Given the description of an element on the screen output the (x, y) to click on. 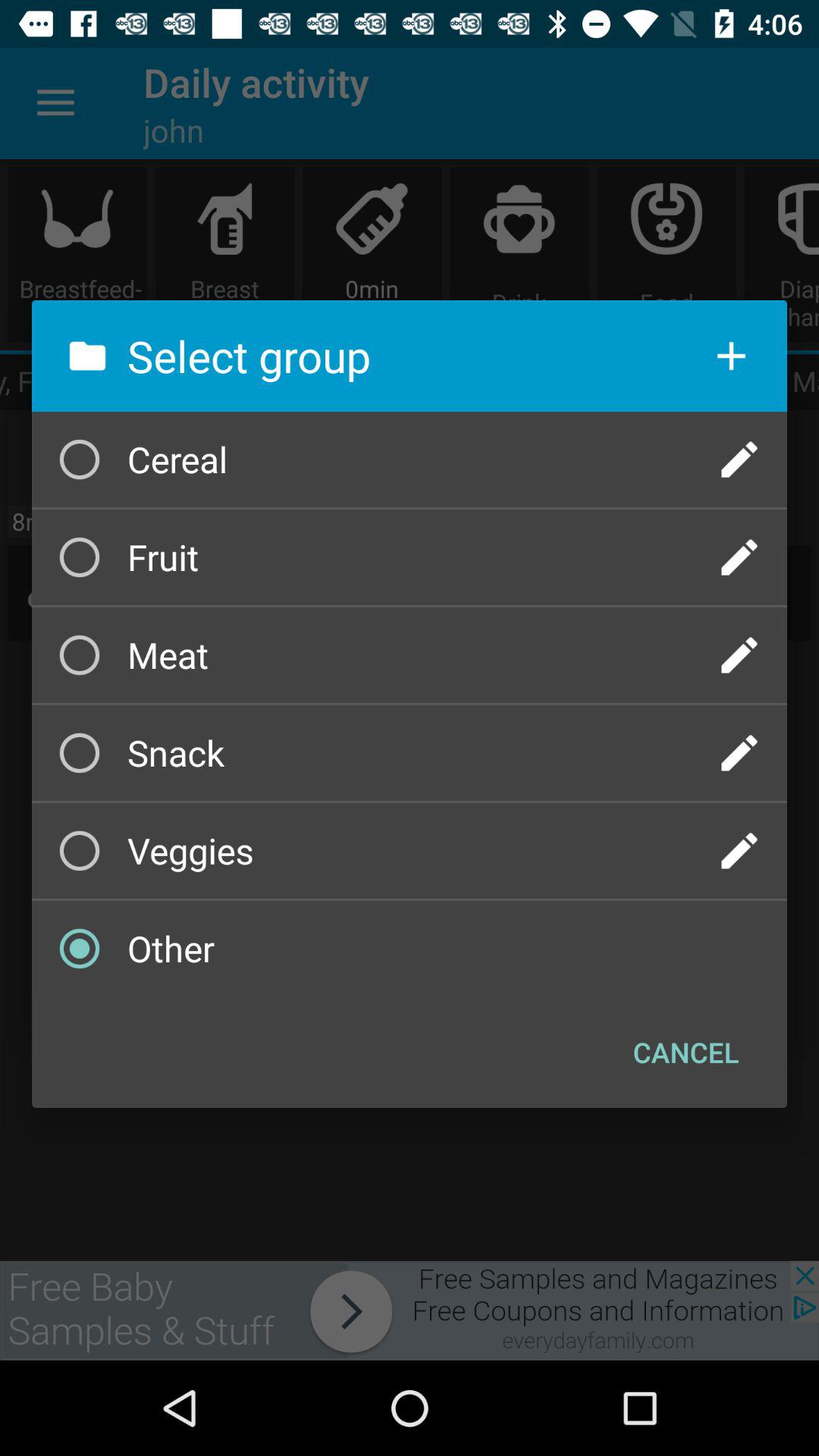
go to add (731, 355)
